Given the description of an element on the screen output the (x, y) to click on. 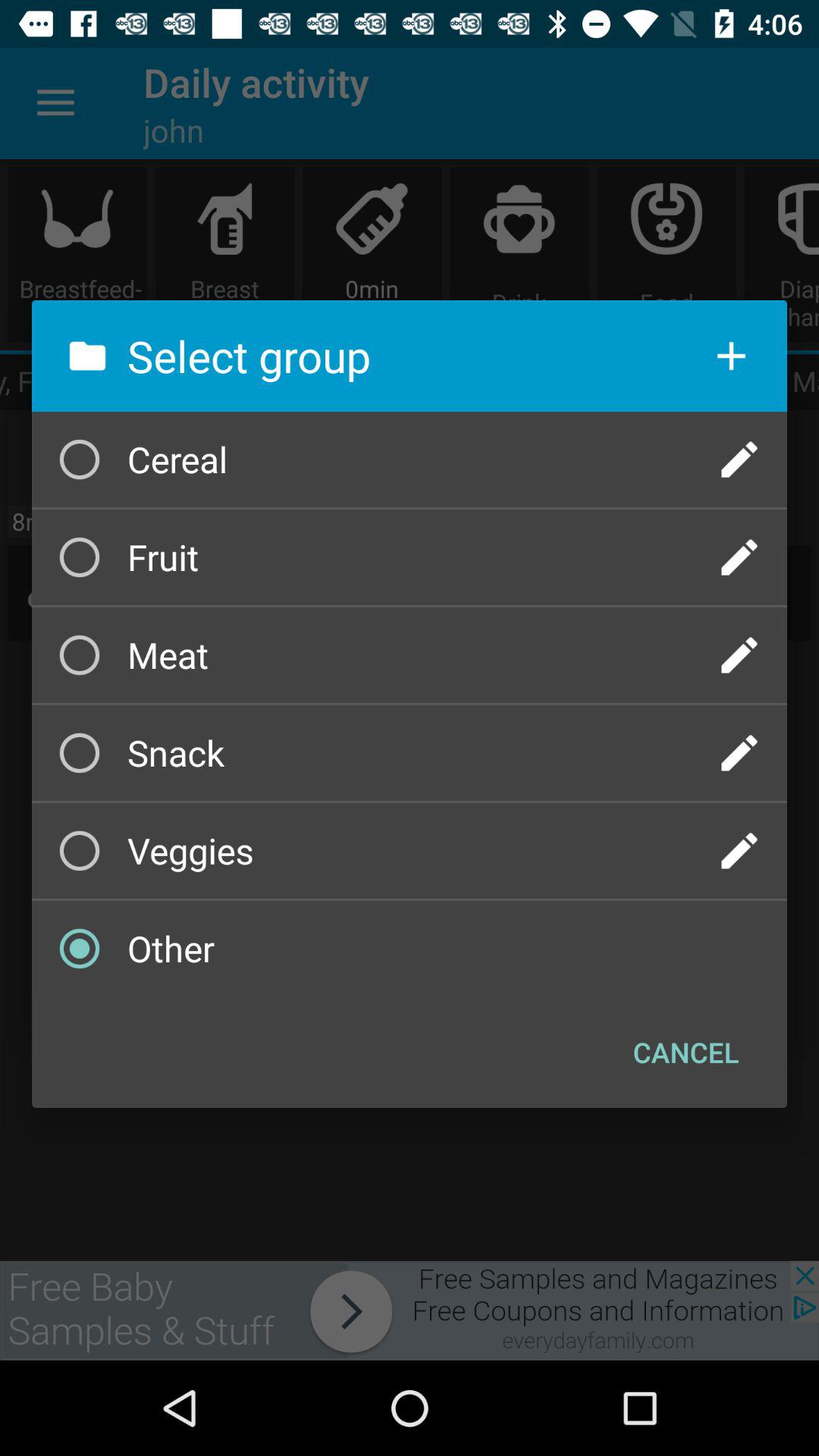
go to add (731, 355)
